Given the description of an element on the screen output the (x, y) to click on. 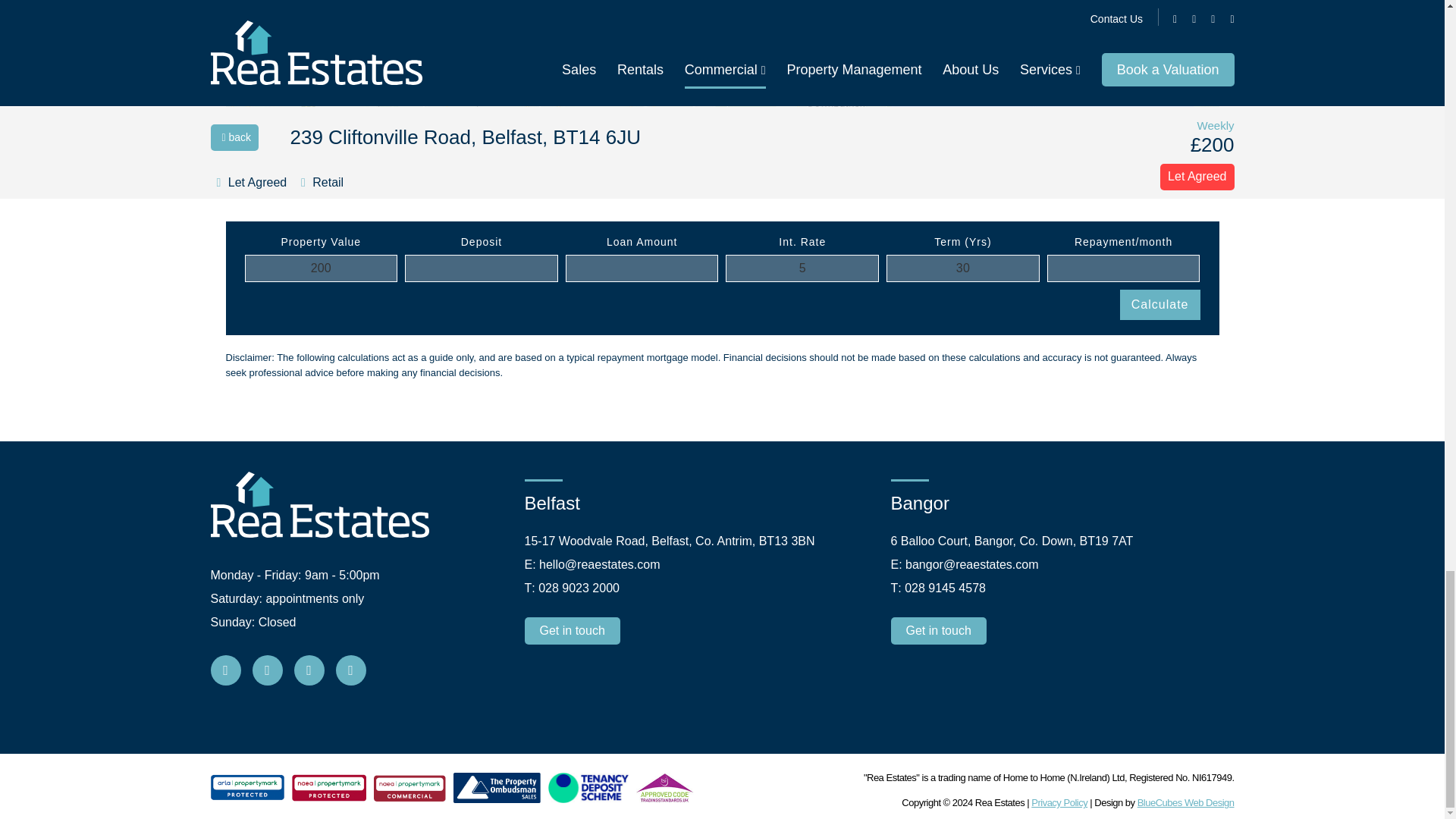
Calculate (1159, 304)
30 (962, 267)
Rea Estates (320, 504)
5 (802, 267)
200 (320, 267)
